Given the description of an element on the screen output the (x, y) to click on. 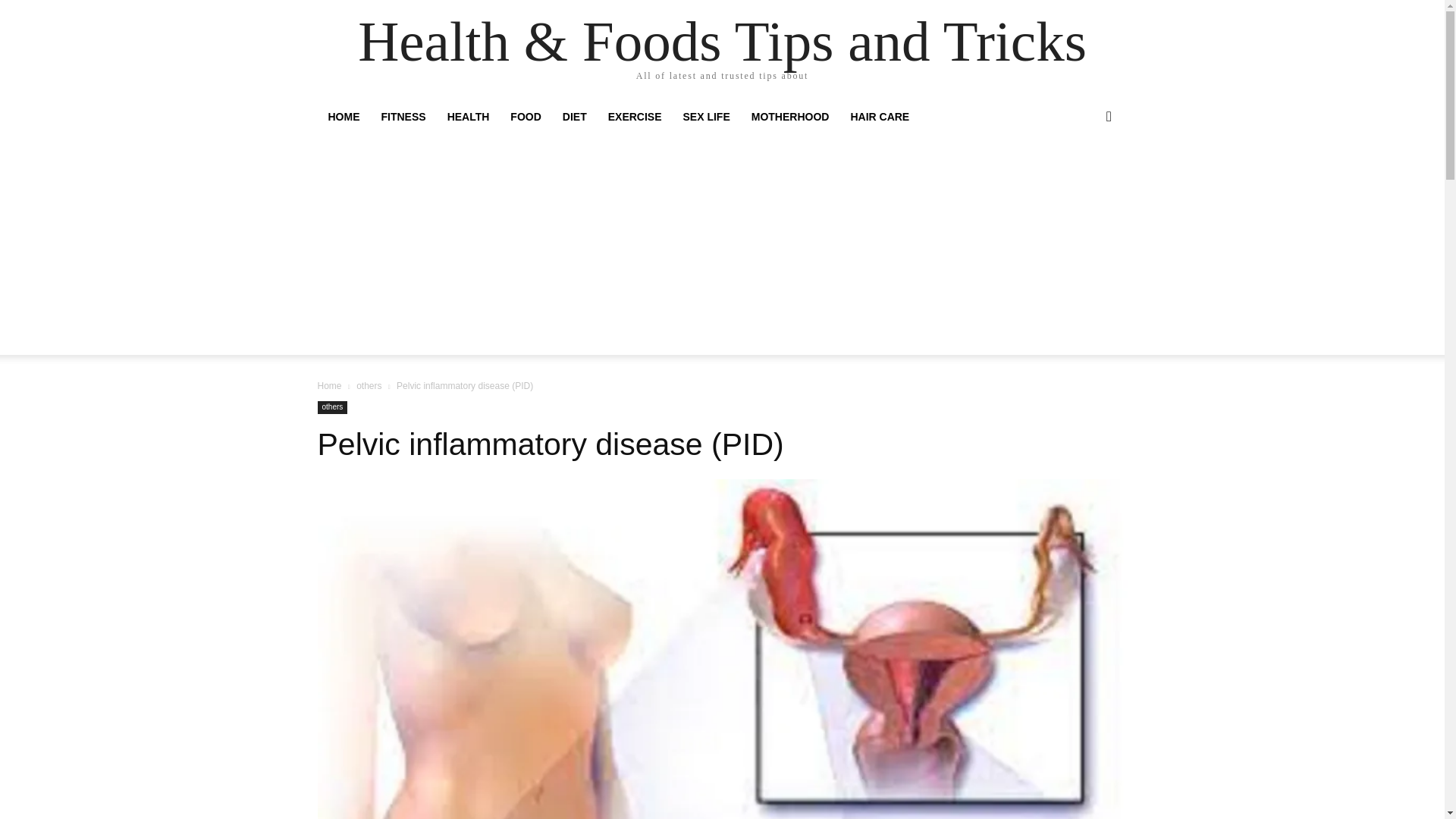
Search (1085, 177)
HEALTH (468, 116)
FITNESS (402, 116)
SEX LIFE (706, 116)
MOTHERHOOD (790, 116)
others (368, 385)
EXERCISE (634, 116)
HAIR CARE (880, 116)
HOME (343, 116)
Home (328, 385)
FOOD (525, 116)
DIET (573, 116)
others (332, 407)
View all posts in others (368, 385)
